Given the description of an element on the screen output the (x, y) to click on. 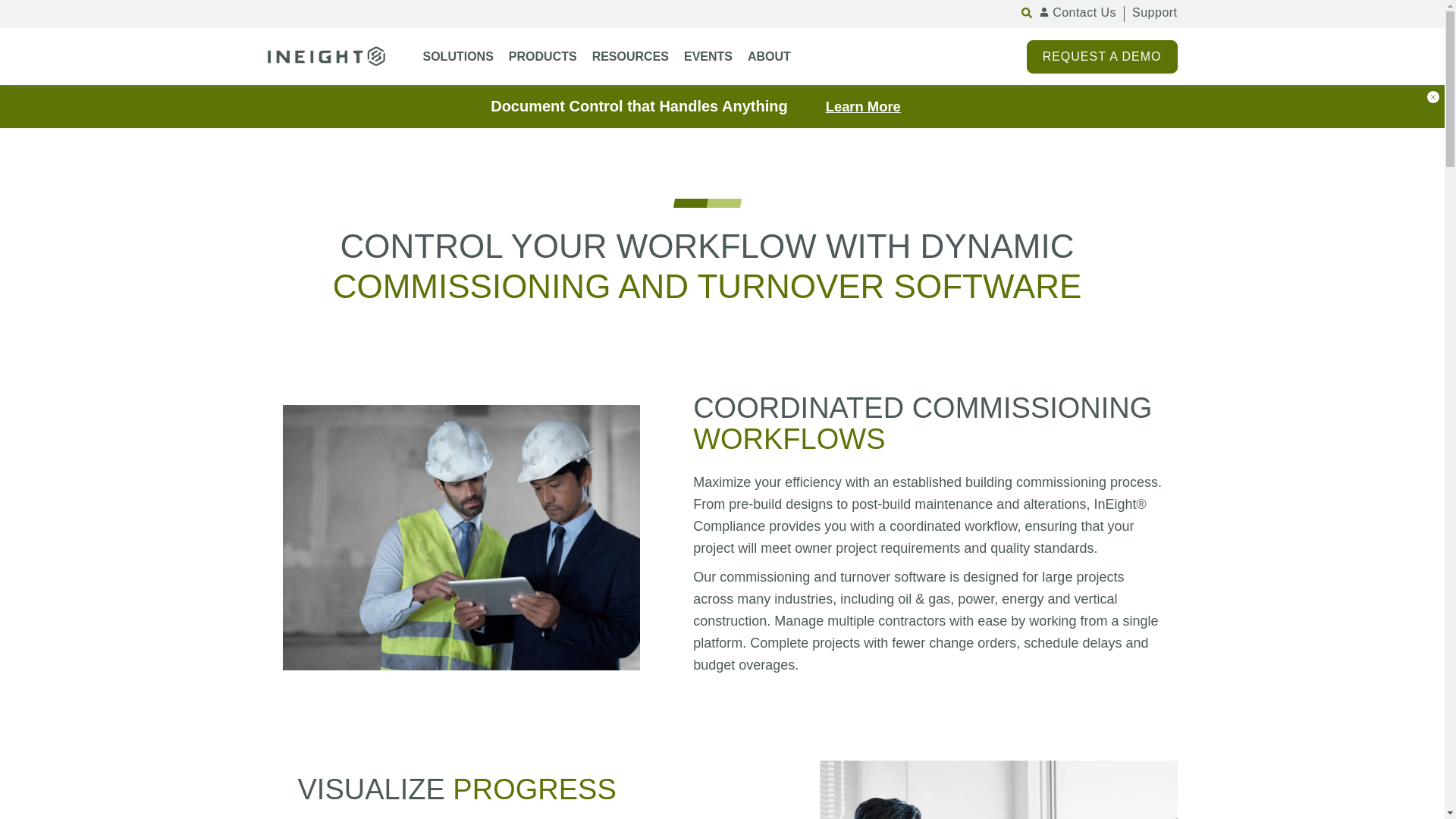
SOLUTIONS (458, 56)
Contact Us (1077, 14)
REQUEST A DEMO (1101, 55)
search (1046, 7)
RESOURCES (630, 56)
ABOUT (769, 56)
EVENTS (708, 56)
Support (1154, 14)
PRODUCTS (542, 56)
